Given the description of an element on the screen output the (x, y) to click on. 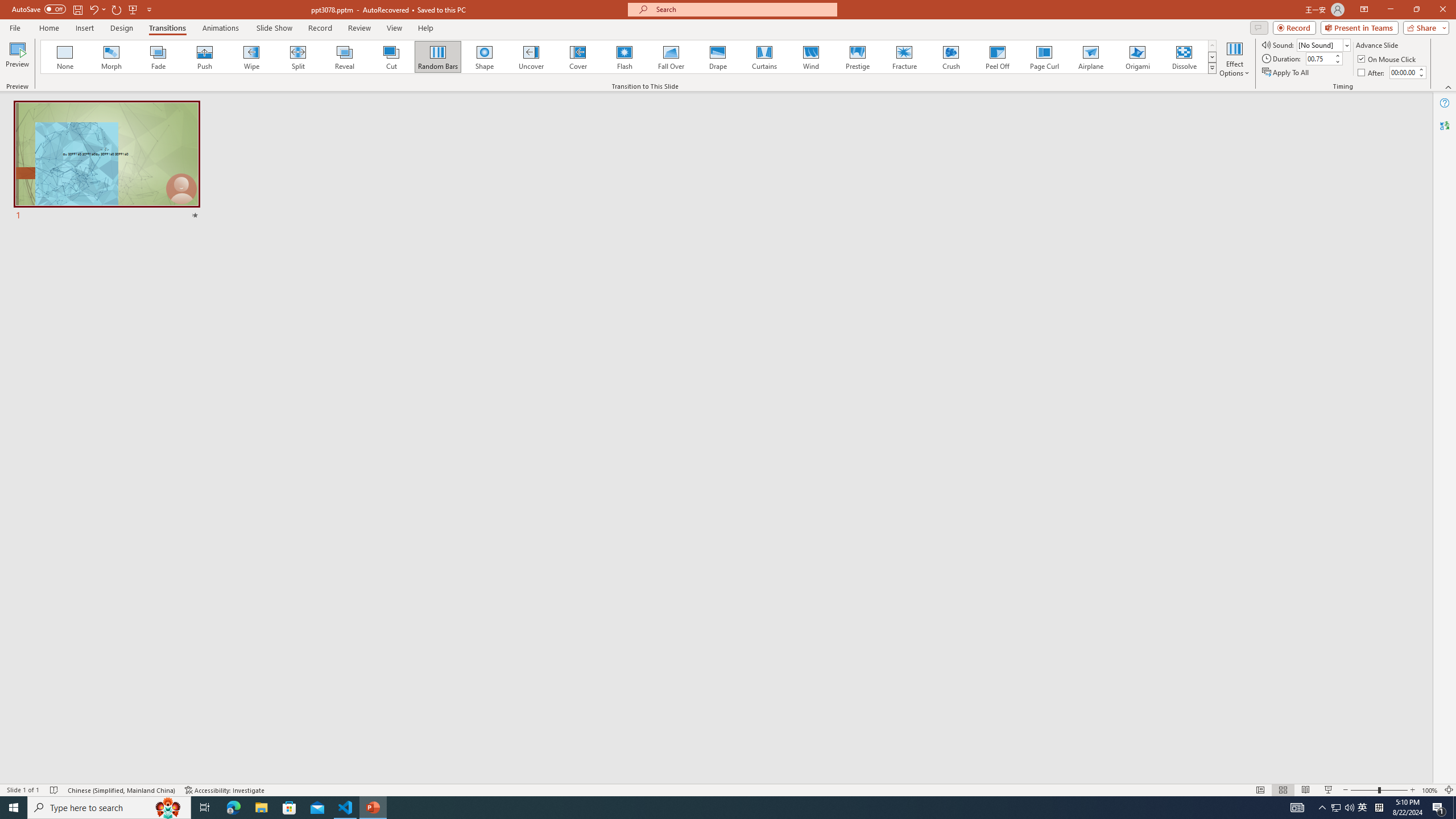
Fall Over (670, 56)
Zoom 100% (1430, 790)
Fracture (903, 56)
Fade (158, 56)
Dissolve (1183, 56)
Wind (810, 56)
Sound (1324, 44)
After (1403, 72)
